Given the description of an element on the screen output the (x, y) to click on. 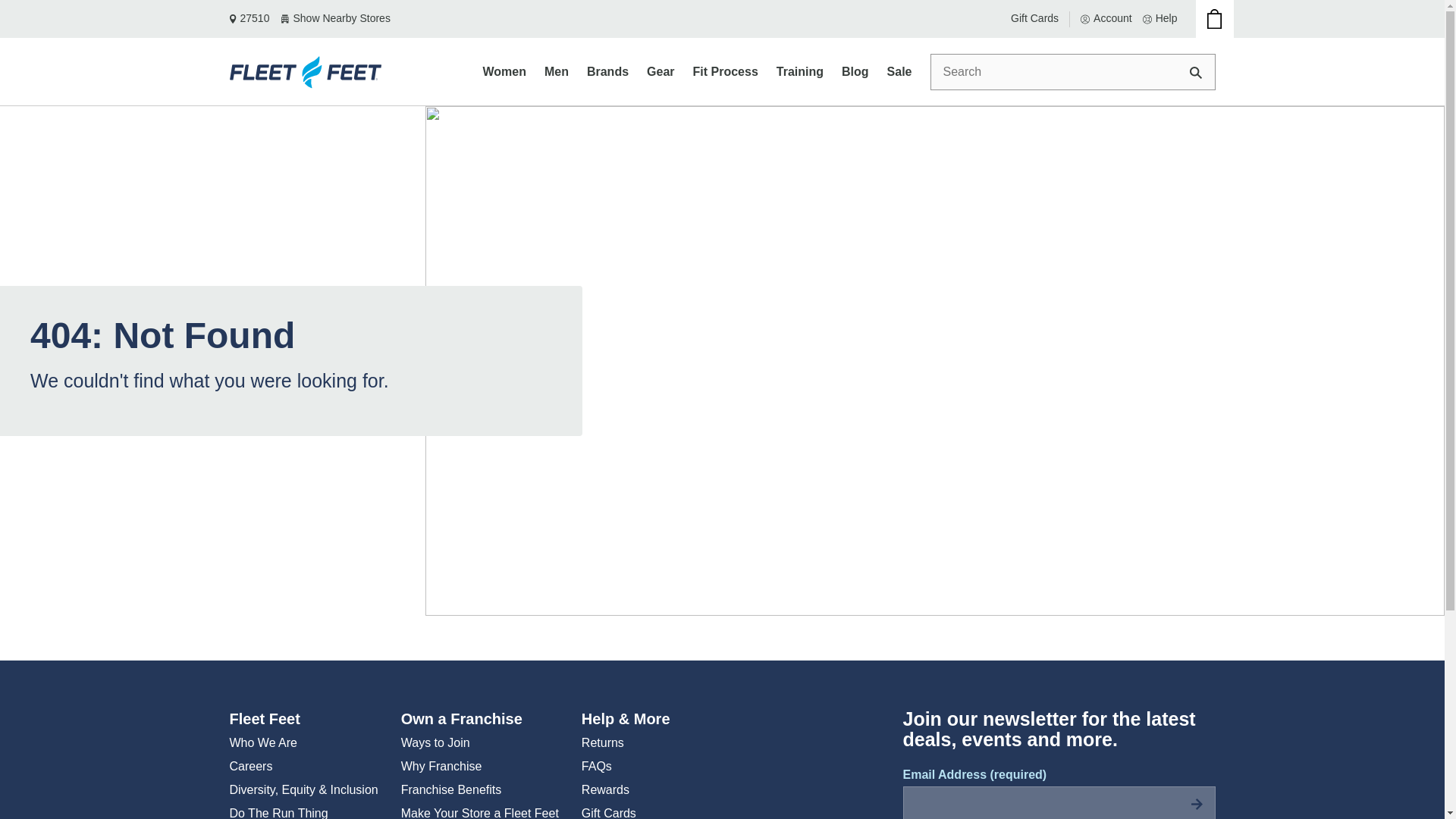
Women (503, 71)
